Given the description of an element on the screen output the (x, y) to click on. 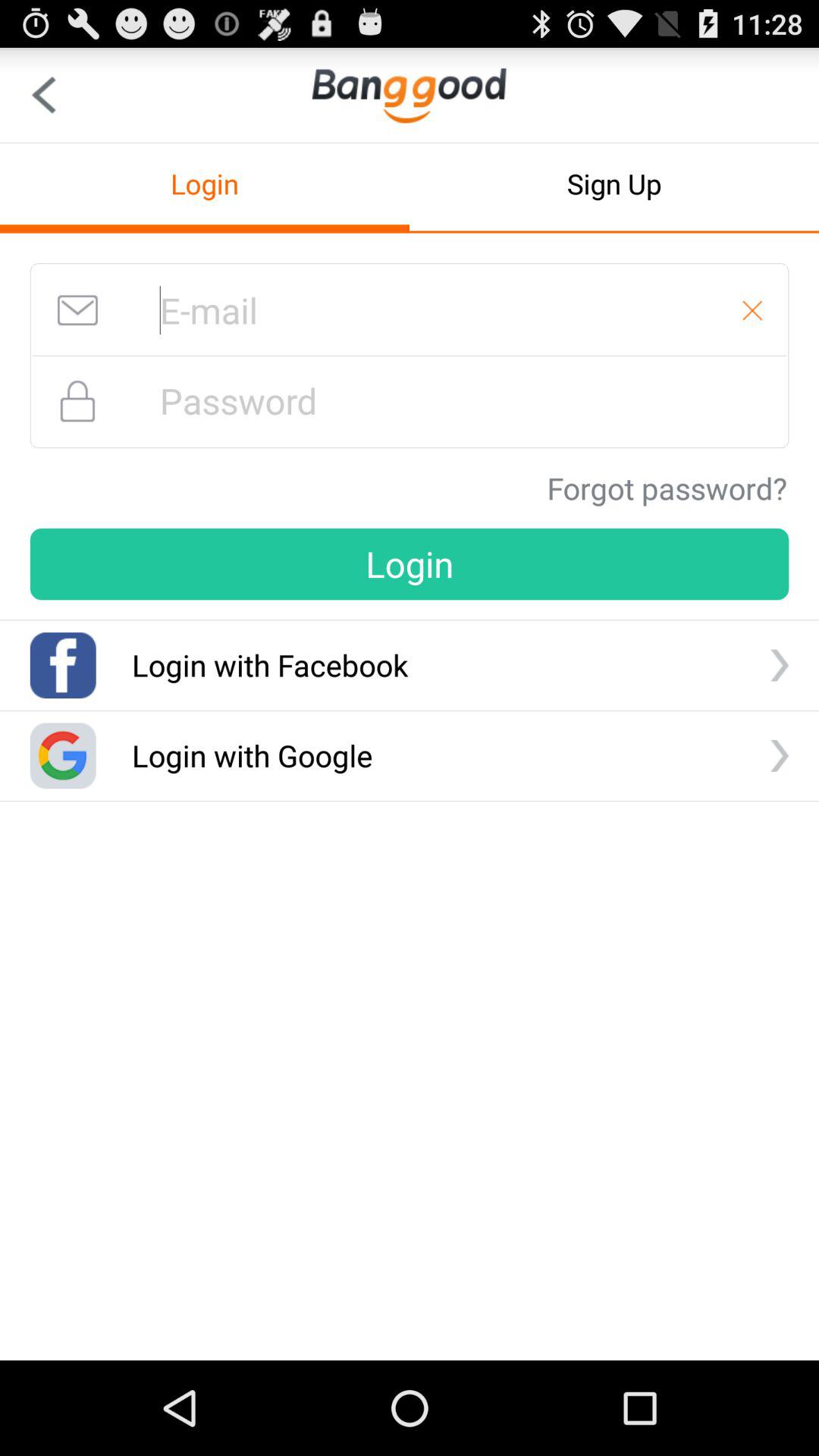
turn off the icon above the login (667, 488)
